Given the description of an element on the screen output the (x, y) to click on. 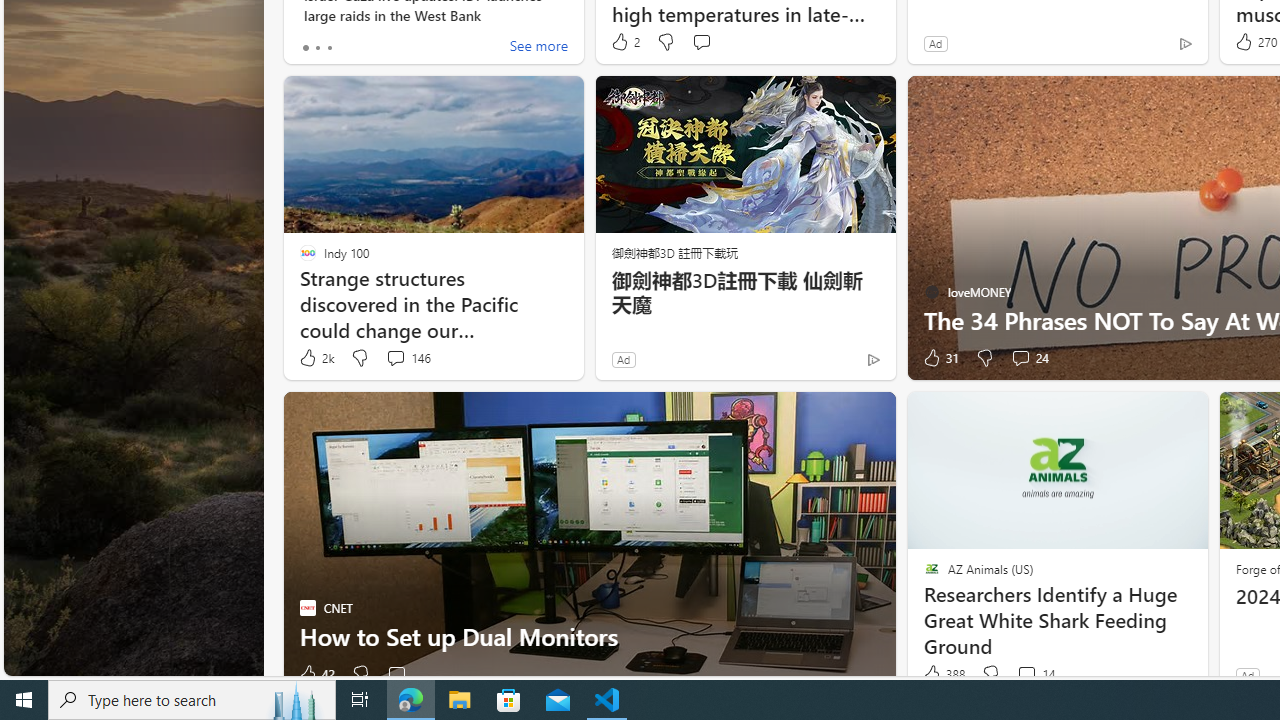
42 Like (316, 674)
31 Like (939, 358)
View comments 24 Comment (1029, 358)
View comments 24 Comment (1019, 357)
View comments 14 Comment (1035, 674)
2 Like (624, 42)
tab-2 (328, 47)
View comments 146 Comment (395, 357)
tab-0 (305, 47)
2k Like (315, 358)
